Given the description of an element on the screen output the (x, y) to click on. 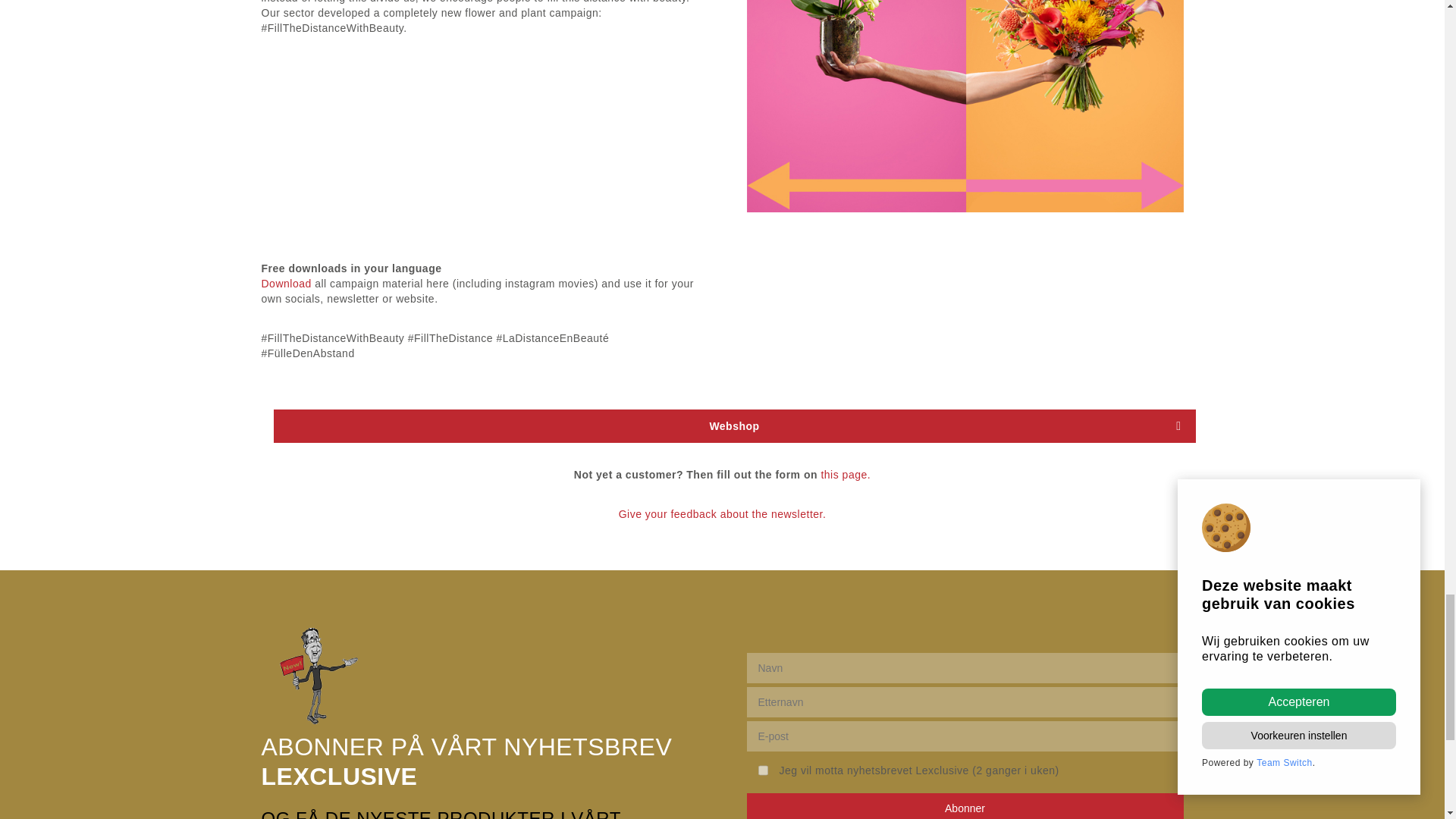
Give your feedback about the newsletter. (722, 513)
Abonner (963, 806)
Abonner (963, 806)
Download (285, 283)
this page. (845, 474)
Webshop (734, 426)
